Given the description of an element on the screen output the (x, y) to click on. 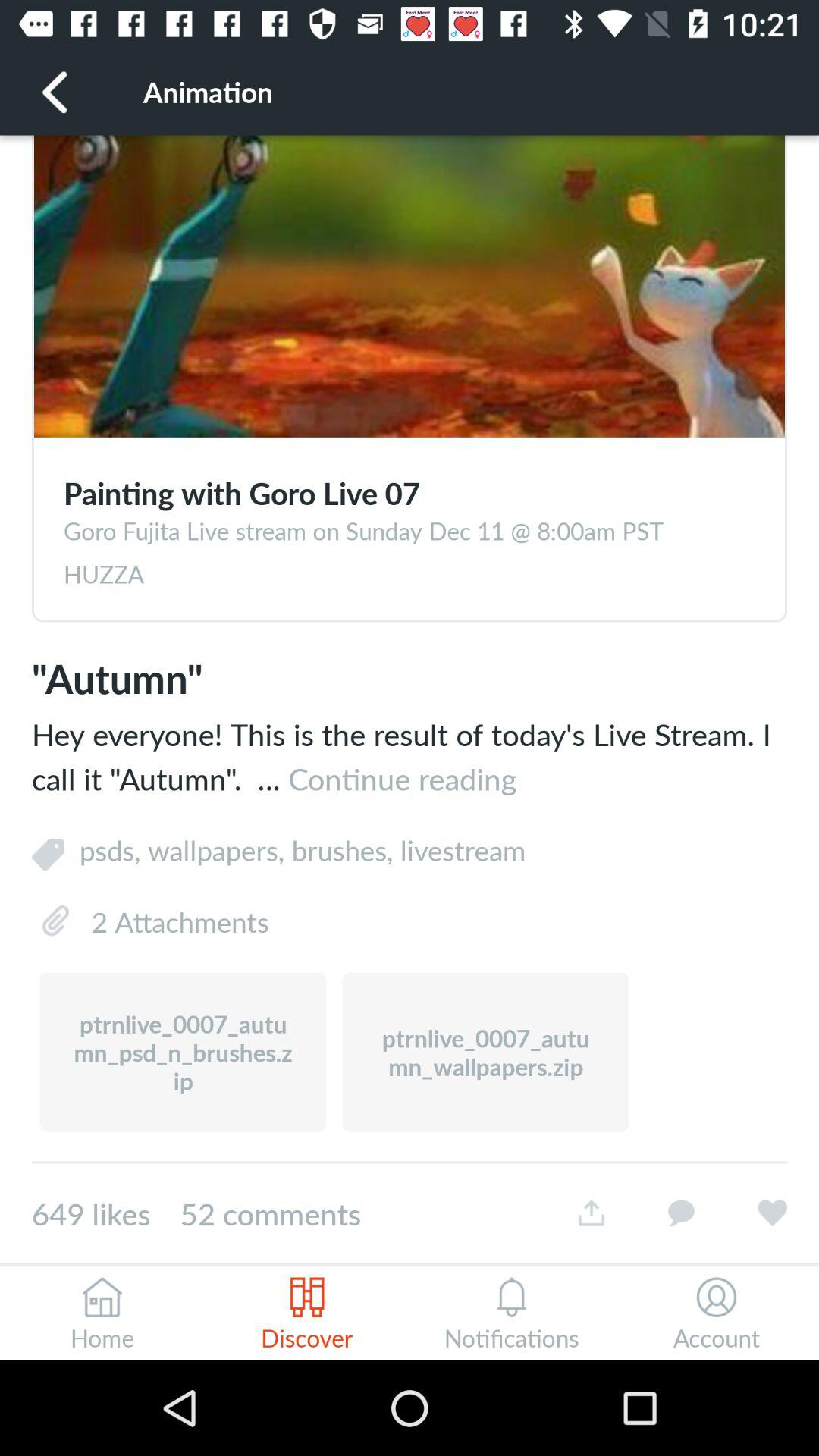
scroll until the hey everyone this item (409, 756)
